Given the description of an element on the screen output the (x, y) to click on. 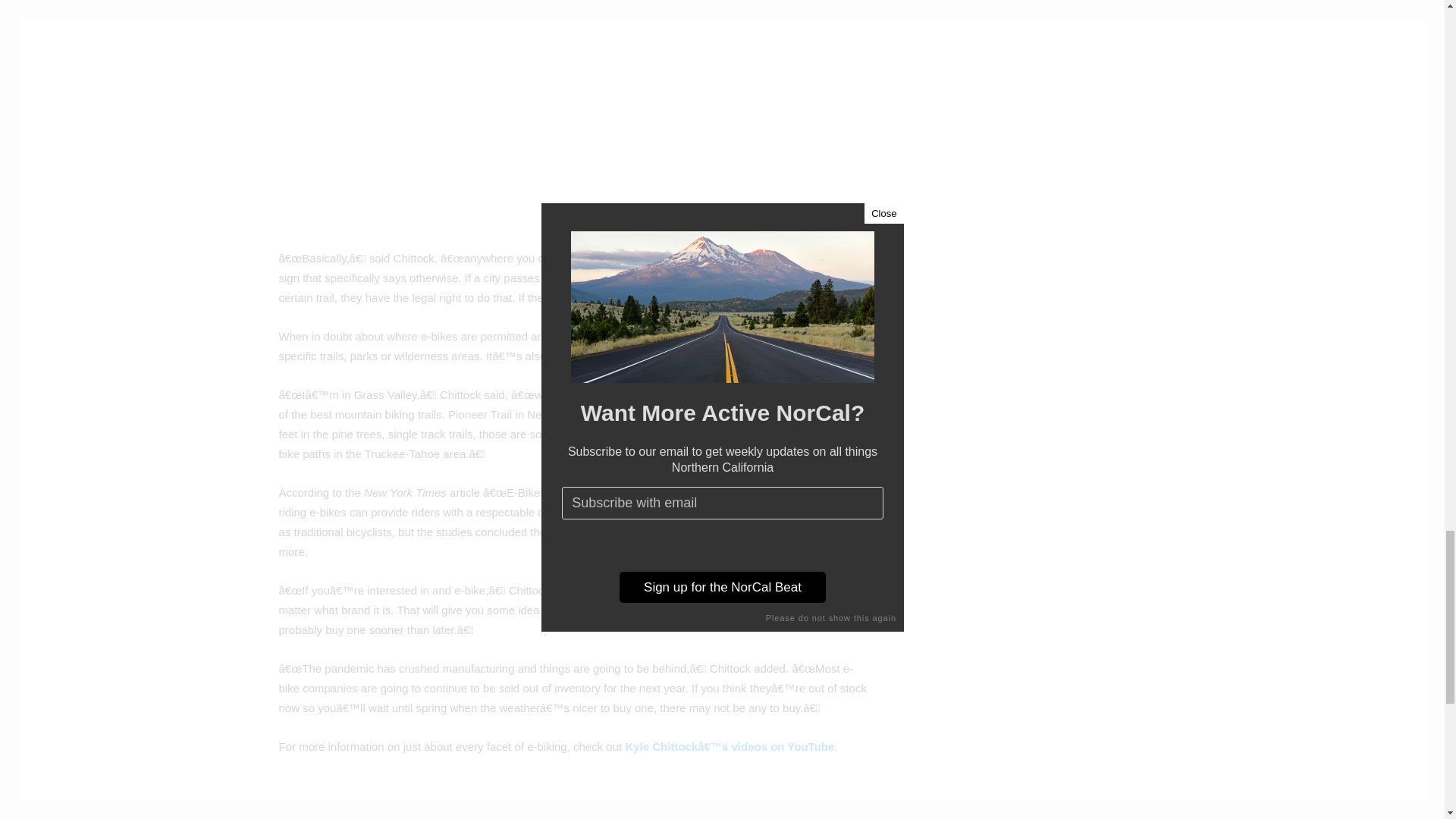
10 things to know before purchasing an eBike (547, 115)
